Given the description of an element on the screen output the (x, y) to click on. 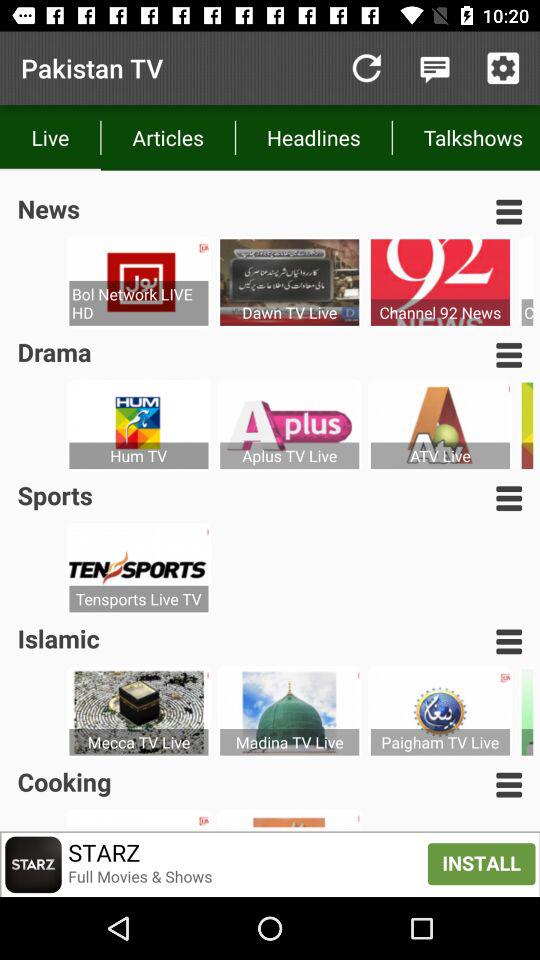
choose item above the talkshows icon (434, 67)
